Given the description of an element on the screen output the (x, y) to click on. 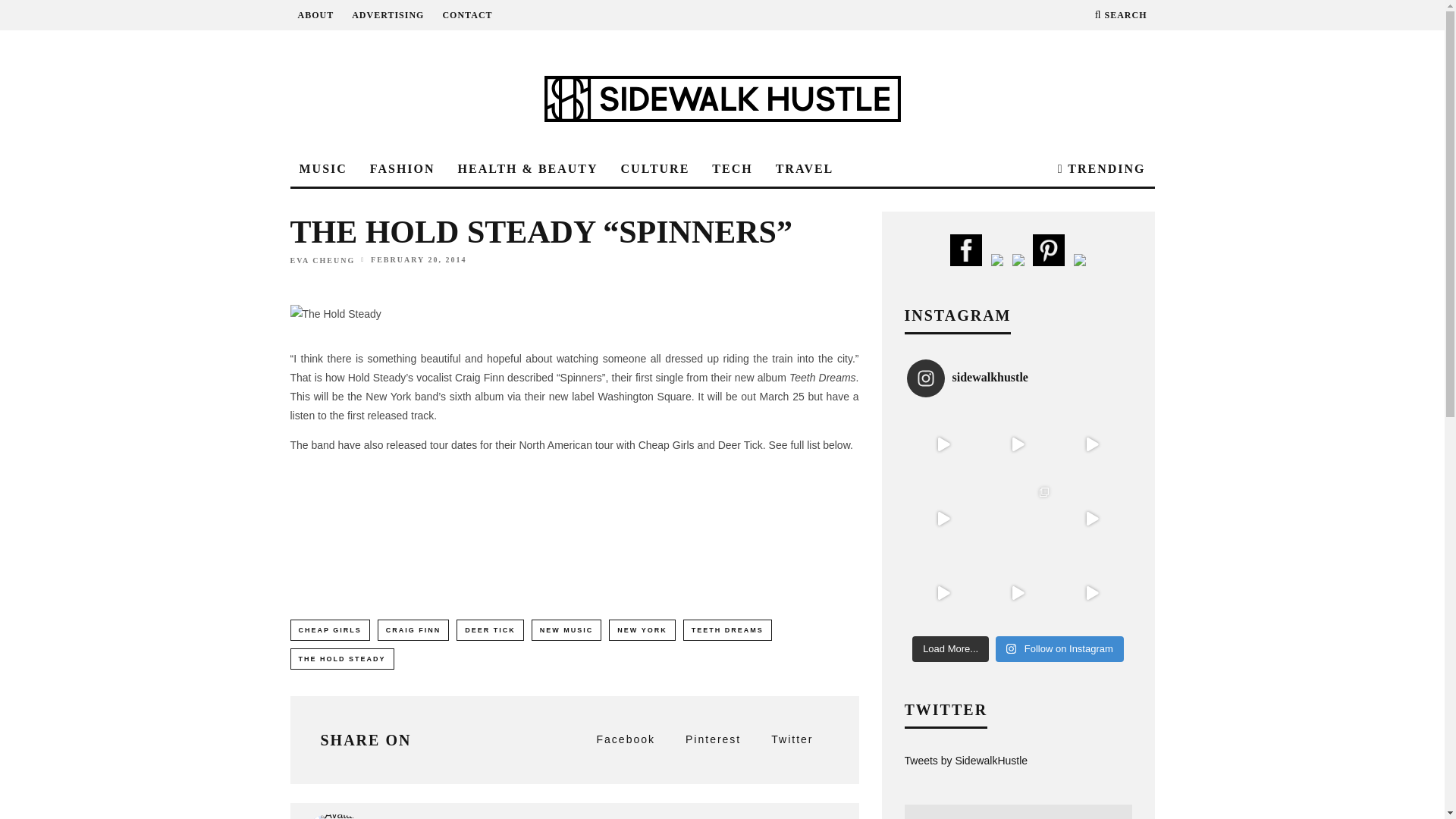
FASHION (402, 169)
SEARCH (1120, 15)
ADVERTISING (387, 15)
ABOUT (315, 15)
CONTACT (467, 15)
MUSIC (322, 169)
Search (1120, 15)
Log In (722, 408)
